Given the description of an element on the screen output the (x, y) to click on. 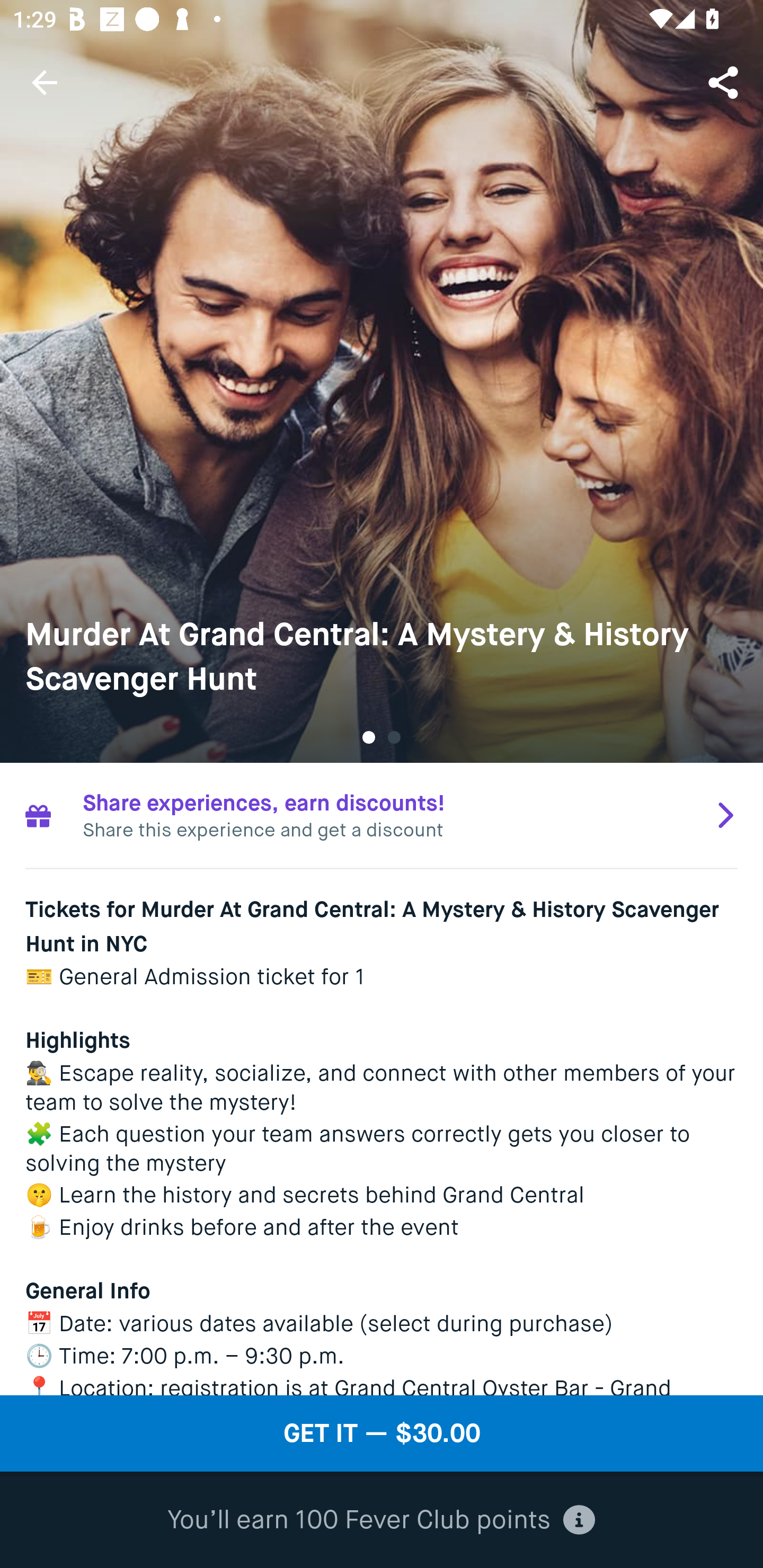
Navigate up (44, 82)
Share (724, 81)
GET IT — $30.00 (381, 1433)
You’ll earn 100 Fever Club points (381, 1519)
